Given the description of an element on the screen output the (x, y) to click on. 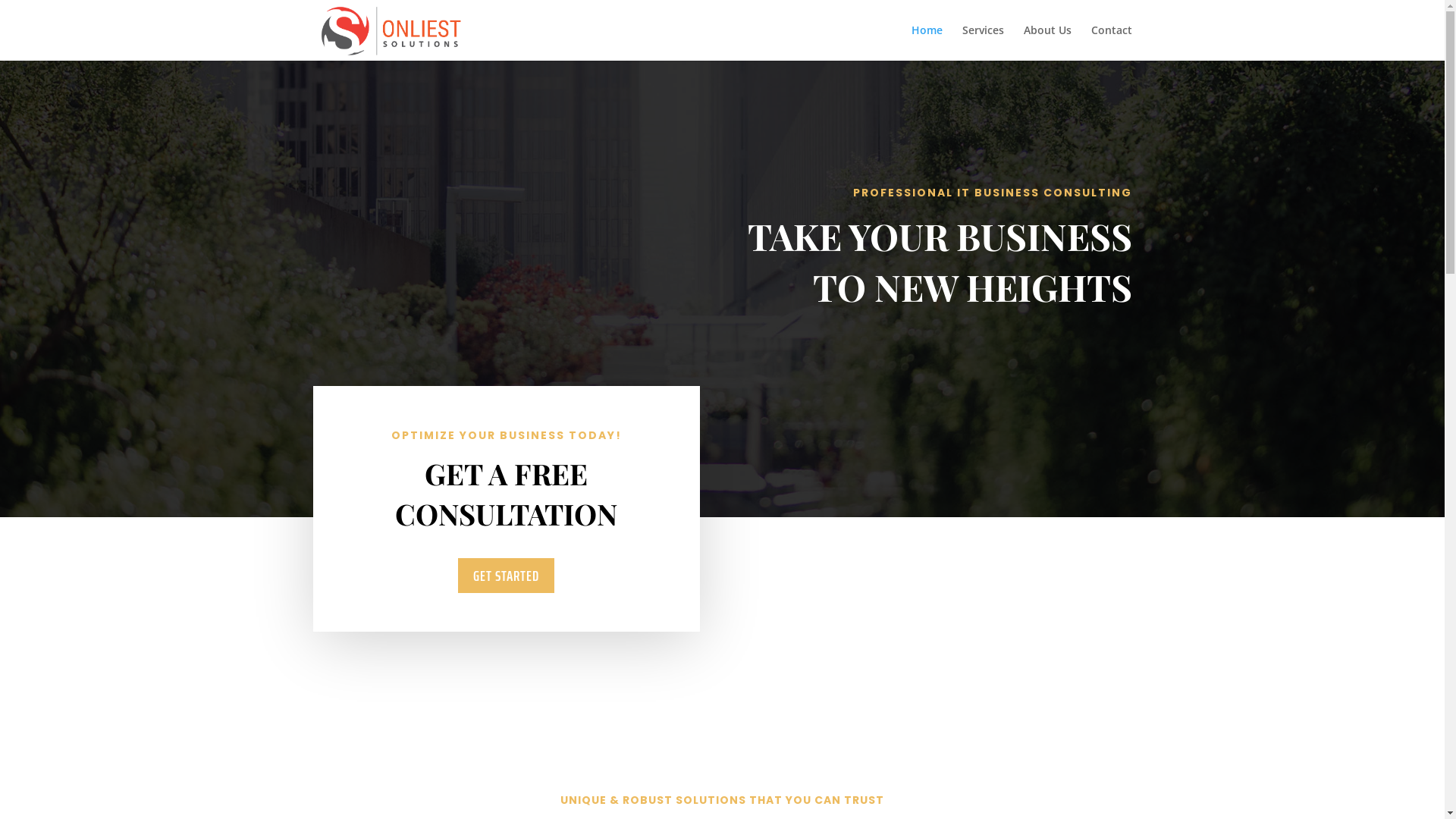
Services Element type: text (982, 42)
About Us Element type: text (1047, 42)
GET STARTED Element type: text (506, 575)
Contact Element type: text (1110, 42)
Home Element type: text (926, 42)
